Given the description of an element on the screen output the (x, y) to click on. 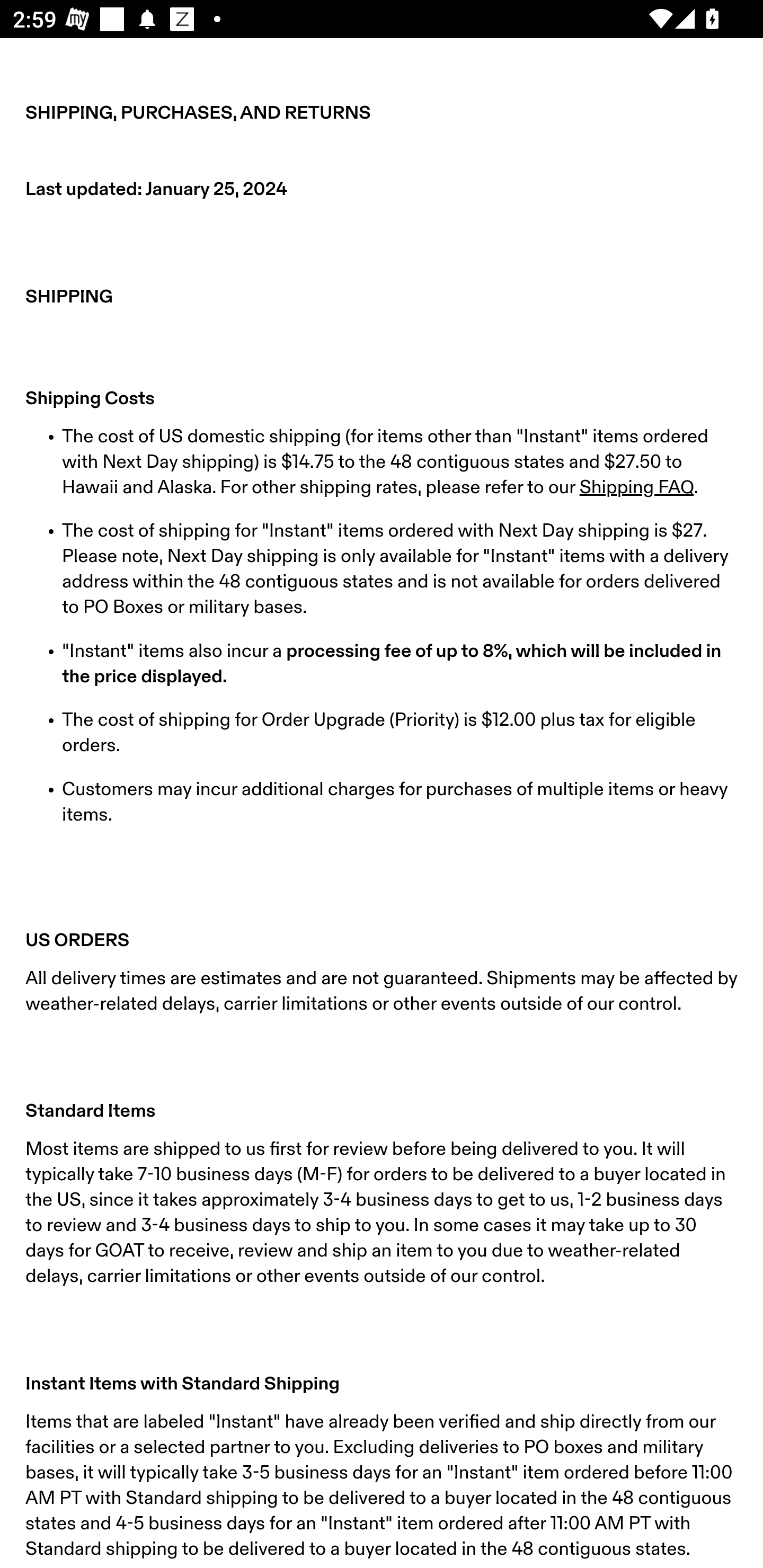
Shipping FAQ (636, 487)
